Given the description of an element on the screen output the (x, y) to click on. 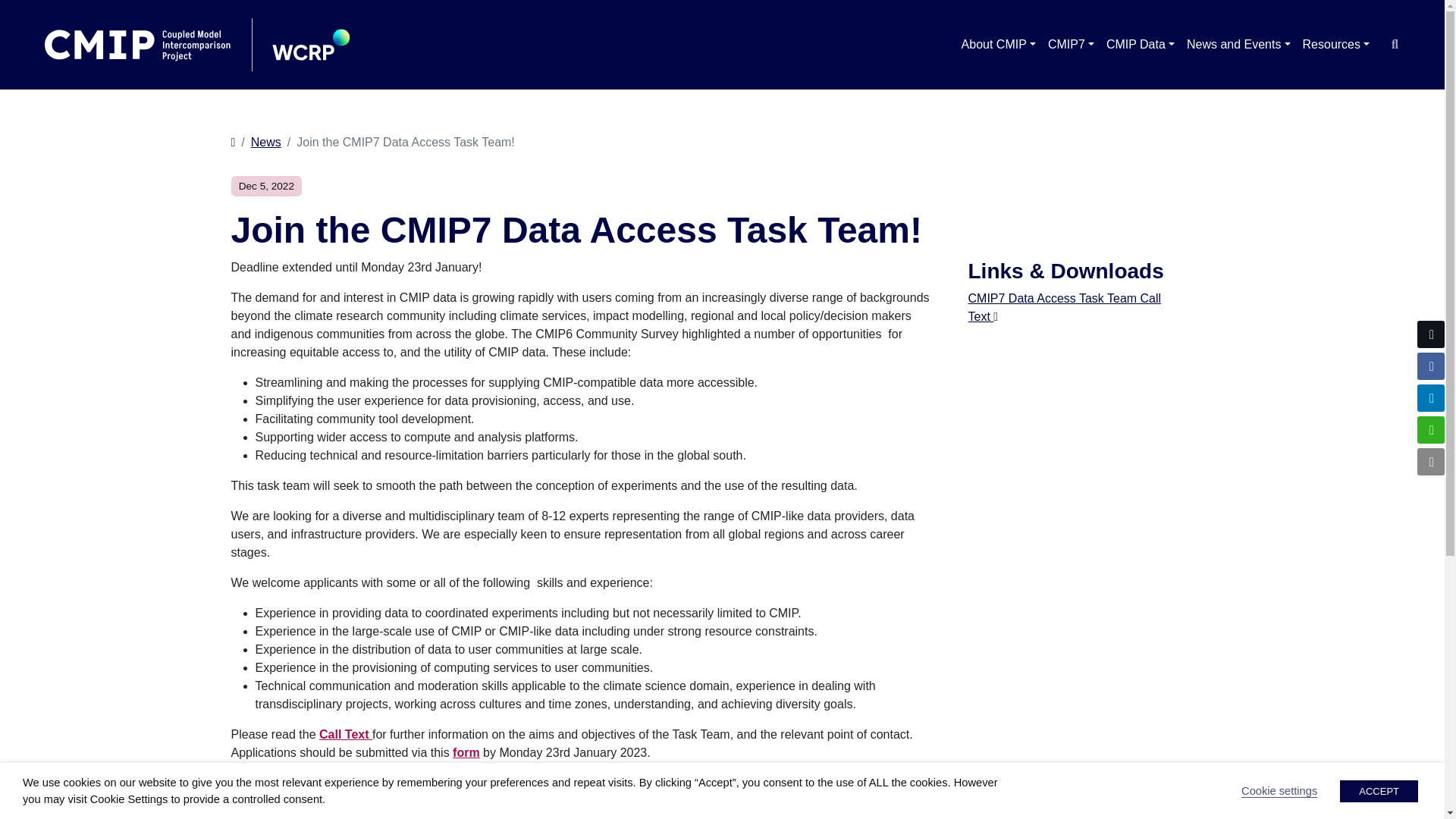
CMIP7 (1071, 44)
About CMIP (998, 44)
Resources (1336, 44)
News and Events (721, 142)
CMIP Data (1238, 44)
